Given the description of an element on the screen output the (x, y) to click on. 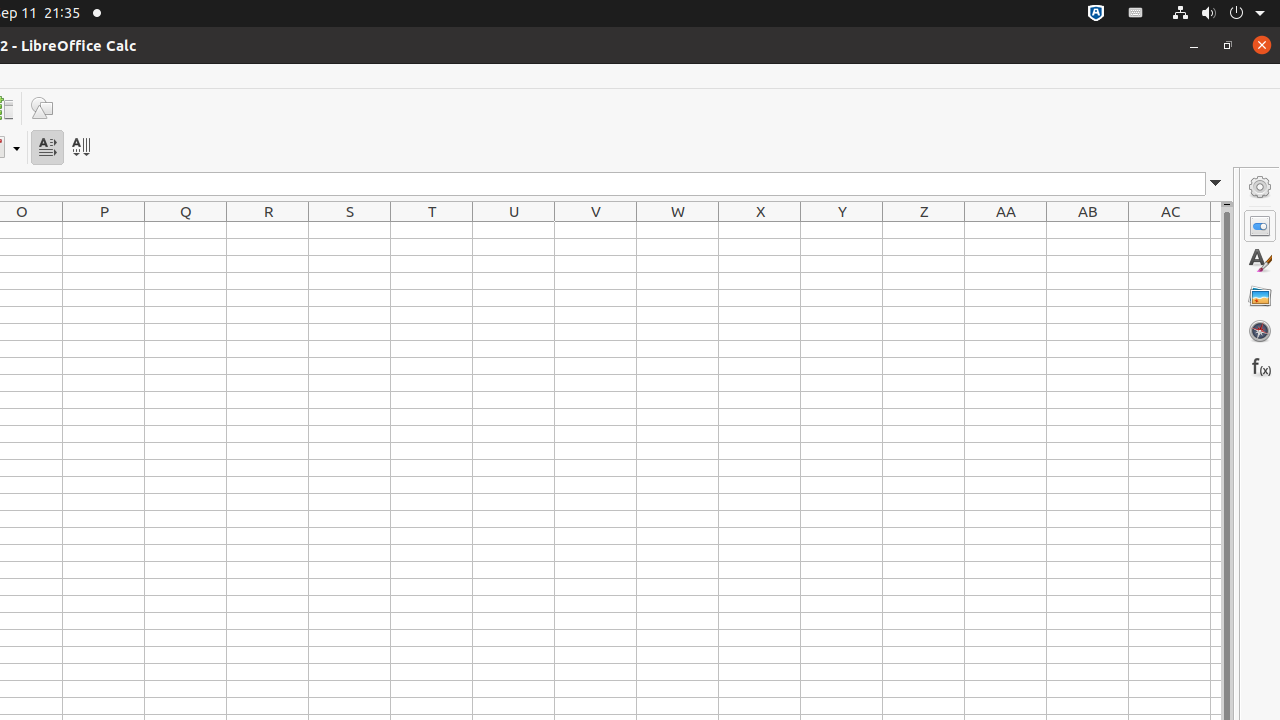
Text direction from left to right Element type: toggle-button (47, 147)
AC1 Element type: table-cell (1170, 230)
P1 Element type: table-cell (104, 230)
Draw Functions Element type: toggle-button (41, 108)
